Given the description of an element on the screen output the (x, y) to click on. 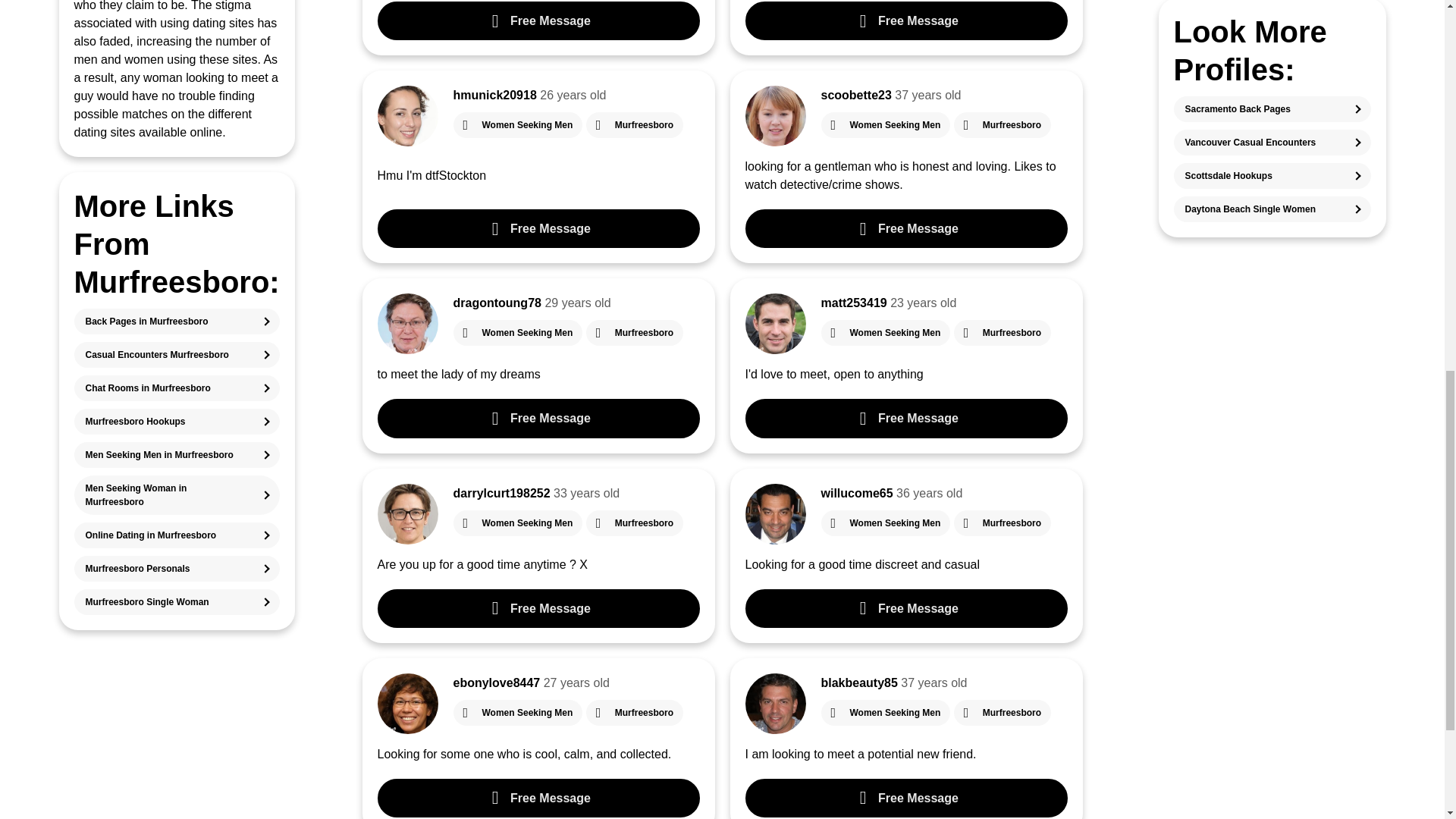
Free Message (905, 20)
Murfreesboro (634, 332)
dragontoung78 (496, 302)
Free Message (905, 417)
hmunick20918 (494, 94)
Murfreesboro (634, 125)
matt253419 (853, 302)
Free Message (905, 228)
Free Message (538, 417)
Free Message (538, 228)
scoobette23 (856, 94)
darrylcurt198252 (501, 492)
Murfreesboro (1002, 125)
Free Message (538, 20)
Murfreesboro (1002, 332)
